Given the description of an element on the screen output the (x, y) to click on. 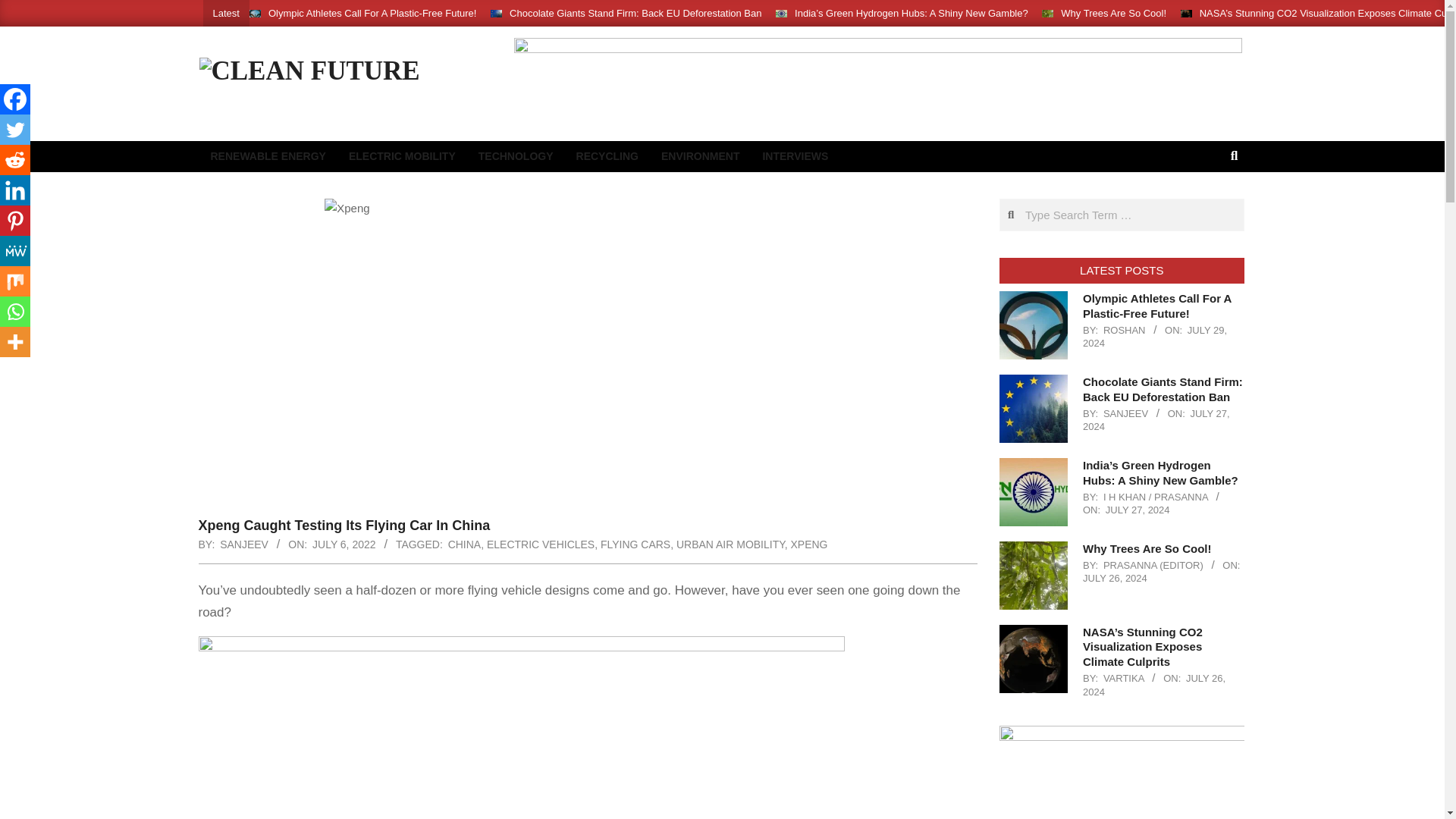
Monday, July 29, 2024, 10:44 am (1155, 336)
ENVIRONMENT (700, 155)
More (15, 341)
URBAN AIR MOBILITY (730, 544)
Chocolate Giants Stand Firm: Back EU Deforestation Ban (635, 12)
Mix (15, 281)
Whatsapp (15, 311)
Linkedin (15, 190)
INTERVIEWS (795, 155)
Twitter (15, 129)
Wednesday, July 6, 2022, 10:08 am (344, 544)
Saturday, July 27, 2024, 1:32 pm (1156, 420)
Posts by Roshan (1124, 329)
RECYCLING (606, 155)
Reddit (15, 159)
